Given the description of an element on the screen output the (x, y) to click on. 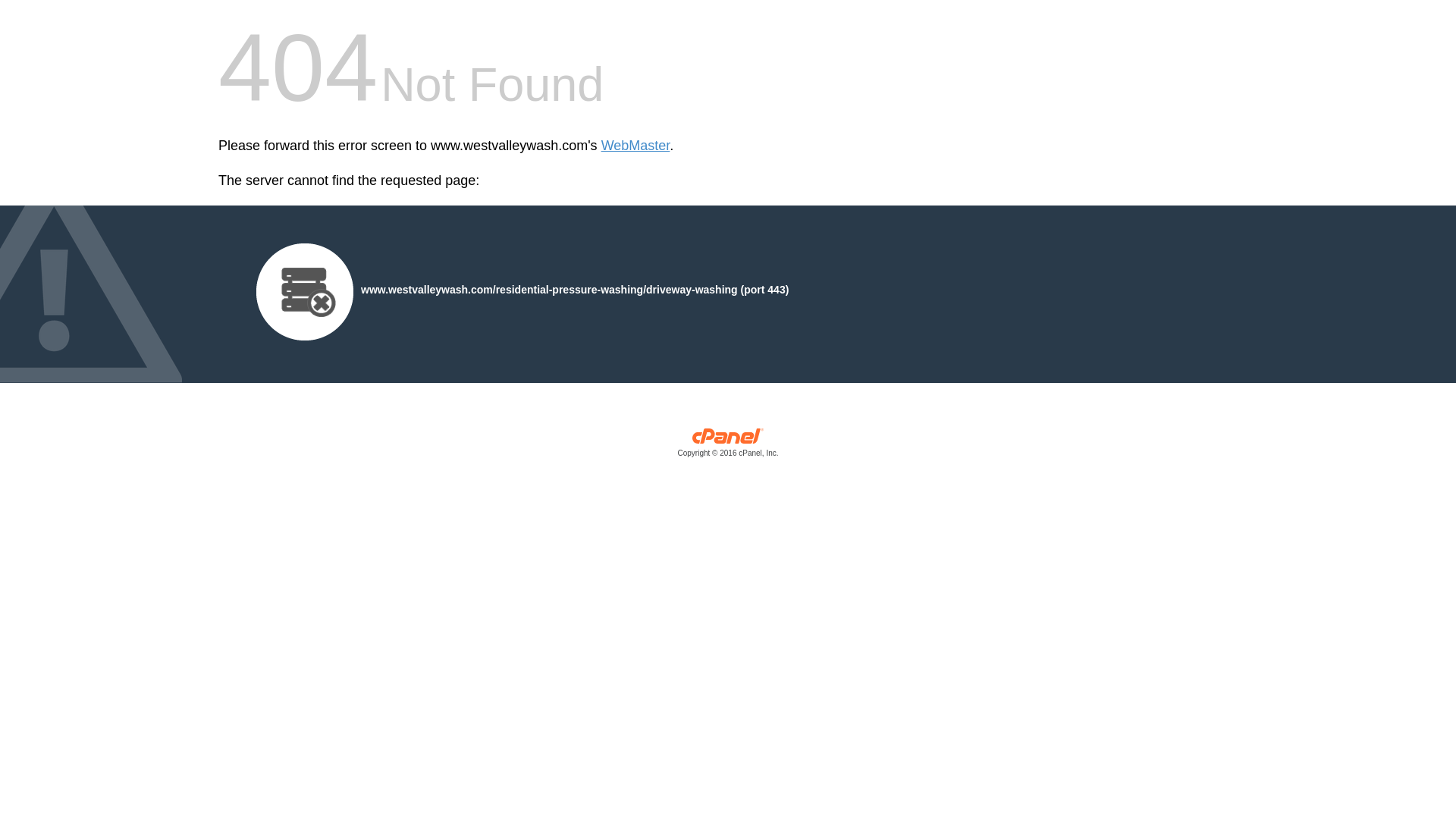
cPanel, Inc. (727, 446)
WebMaster (635, 145)
